Given the description of an element on the screen output the (x, y) to click on. 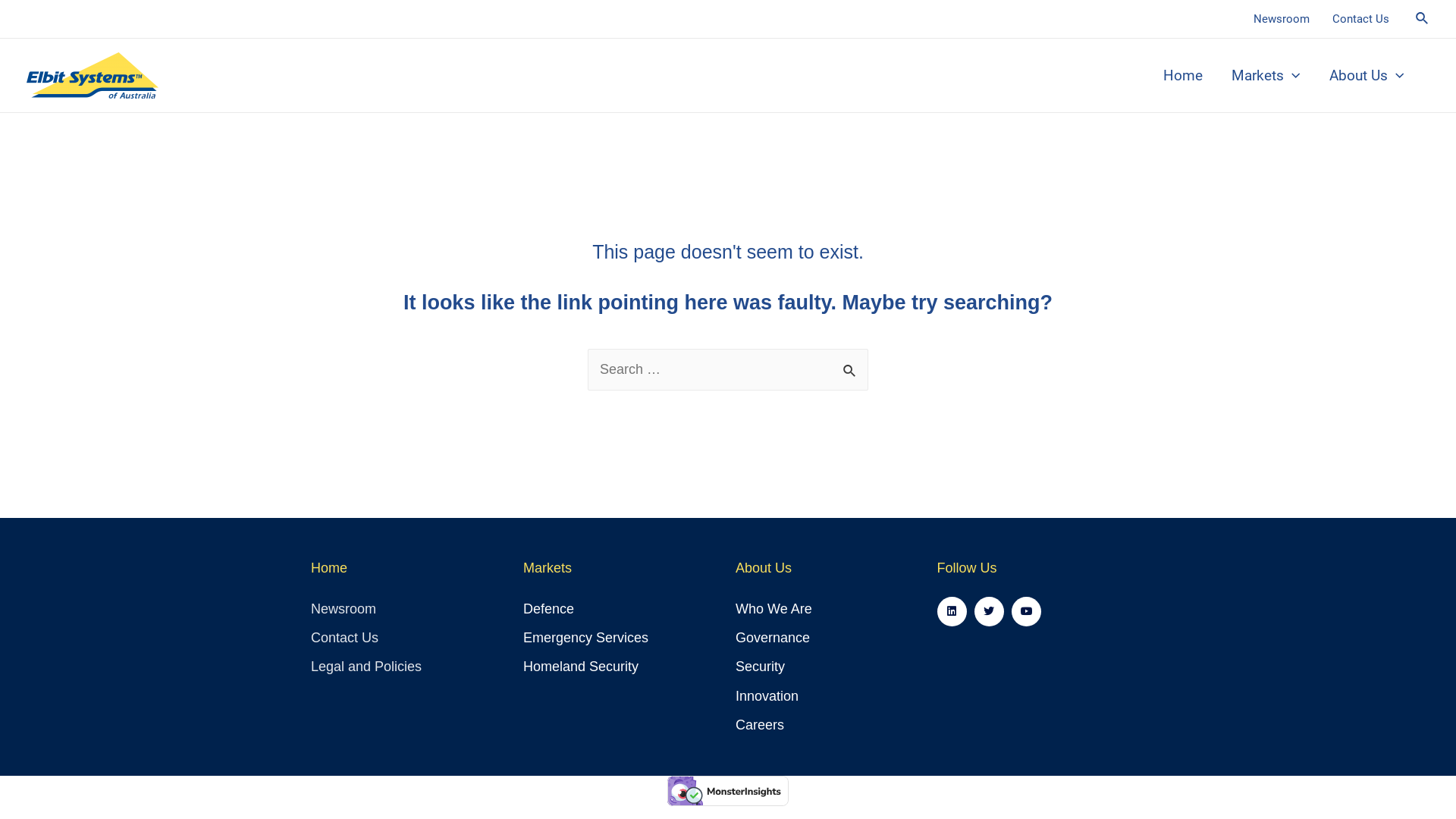
Newsroom Element type: text (409, 608)
Governance Element type: text (800, 637)
Home Element type: text (1182, 74)
Legal and Policies Element type: text (409, 666)
Markets Element type: text (1265, 74)
Homeland Security Element type: text (621, 666)
Defence Element type: text (621, 608)
About Us Element type: text (1366, 74)
Who We Are Element type: text (800, 608)
Innovation Element type: text (800, 696)
Security Element type: text (800, 666)
Newsroom Element type: text (1281, 18)
Emergency Services Element type: text (621, 637)
Careers Element type: text (800, 724)
Contact Us Element type: text (409, 637)
Verified by MonsterInsights Element type: hover (727, 790)
Search Element type: text (851, 365)
Contact Us Element type: text (1360, 18)
